Given the description of an element on the screen output the (x, y) to click on. 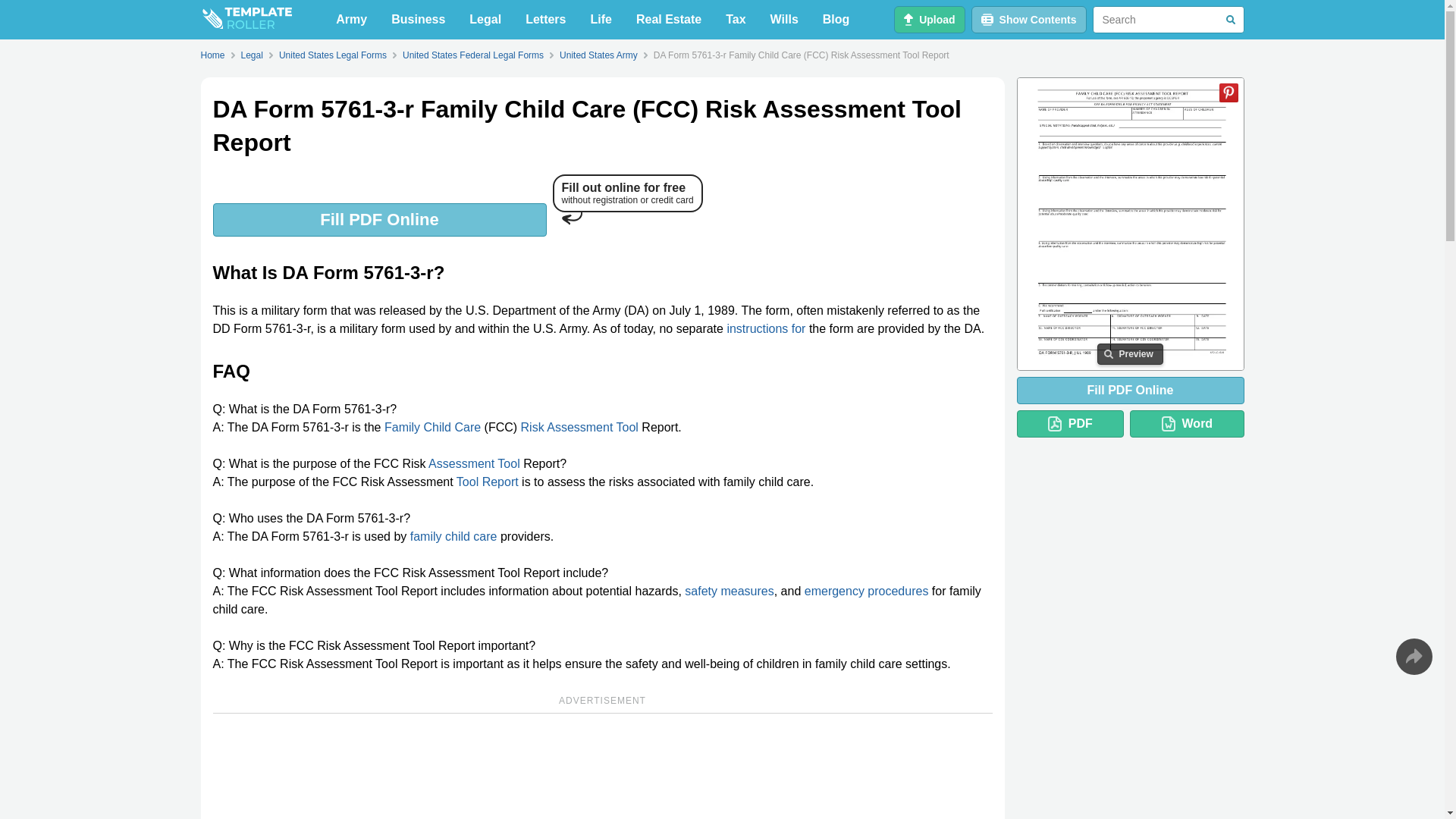
Legal (485, 19)
Business (417, 19)
Business (417, 19)
Tax (735, 19)
Real Estate (668, 19)
Legal (251, 55)
United States Federal Legal Forms (473, 55)
Army (350, 19)
Wills (784, 19)
Upload (928, 19)
Blog (836, 19)
Tax (735, 19)
Wills (784, 19)
United States Army (598, 55)
TemplateRoller (245, 19)
